Given the description of an element on the screen output the (x, y) to click on. 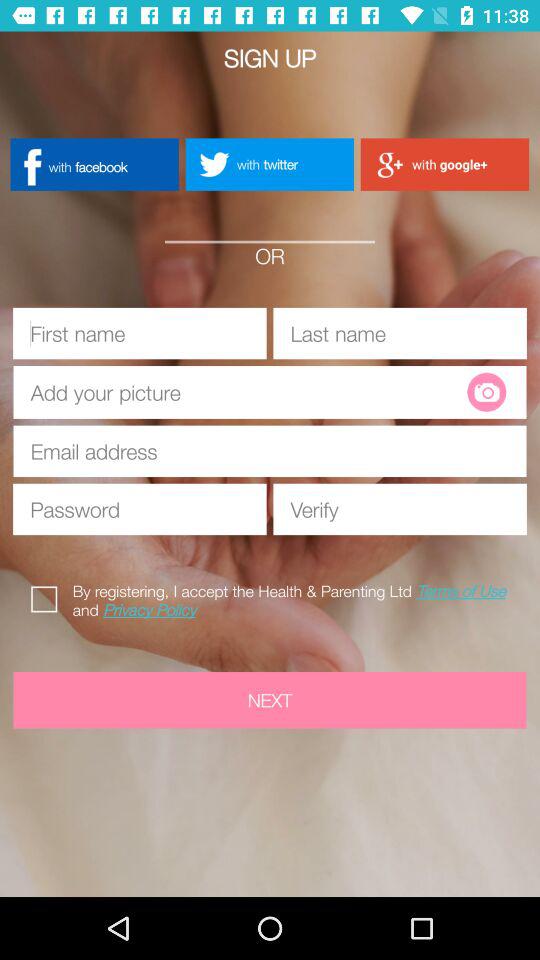
repeat password in this box to verify (399, 509)
